Given the description of an element on the screen output the (x, y) to click on. 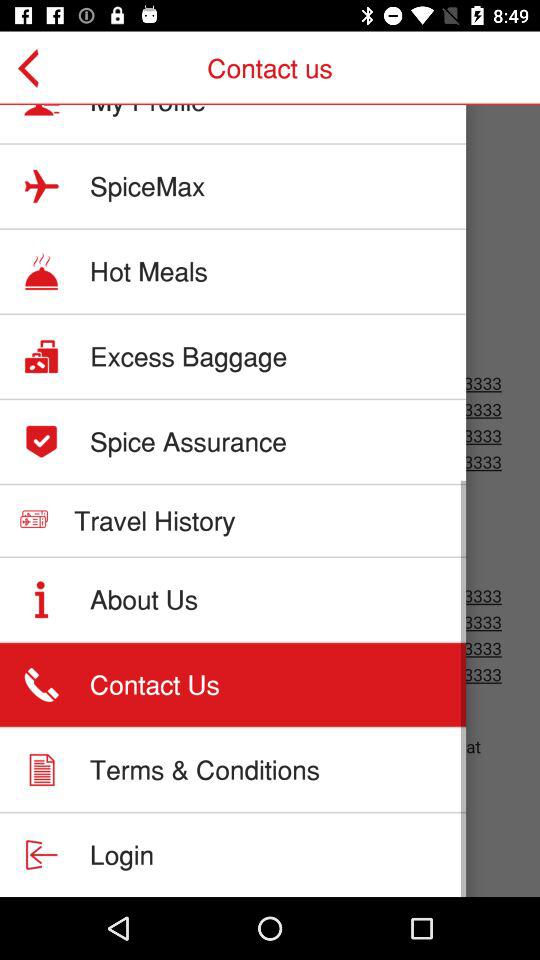
tap login (122, 854)
